Given the description of an element on the screen output the (x, y) to click on. 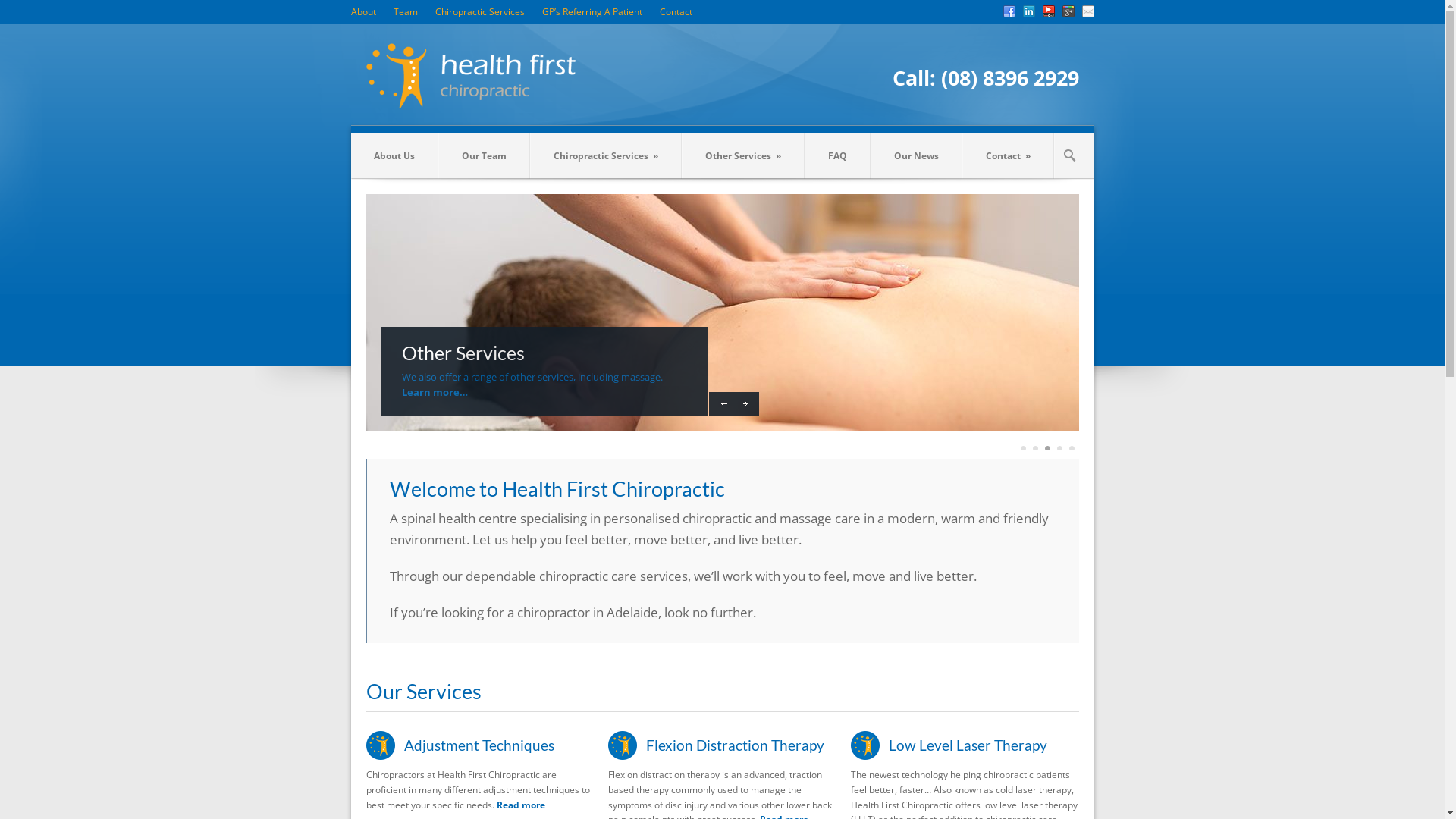
Our Team Element type: text (483, 156)
Our News Element type: text (915, 156)
Team Element type: text (404, 11)
Adjustment Techniques Element type: text (478, 744)
We also offer a range of other services, including massage. Element type: text (531, 376)
Welcome to Health First Chiropractic Element type: text (556, 488)
Chiropractic Services Element type: text (479, 11)
About Element type: text (362, 11)
Low Level Laser Therapy Element type: text (967, 744)
About Us Element type: text (393, 156)
Contact Element type: text (675, 11)
Other Services Element type: text (544, 356)
Flexion Distraction Therapy Element type: text (735, 744)
FAQ Element type: text (837, 156)
Our Services Element type: text (422, 690)
(08) 8396 2929 Element type: text (1009, 77)
Read more Element type: text (519, 804)
